Given the description of an element on the screen output the (x, y) to click on. 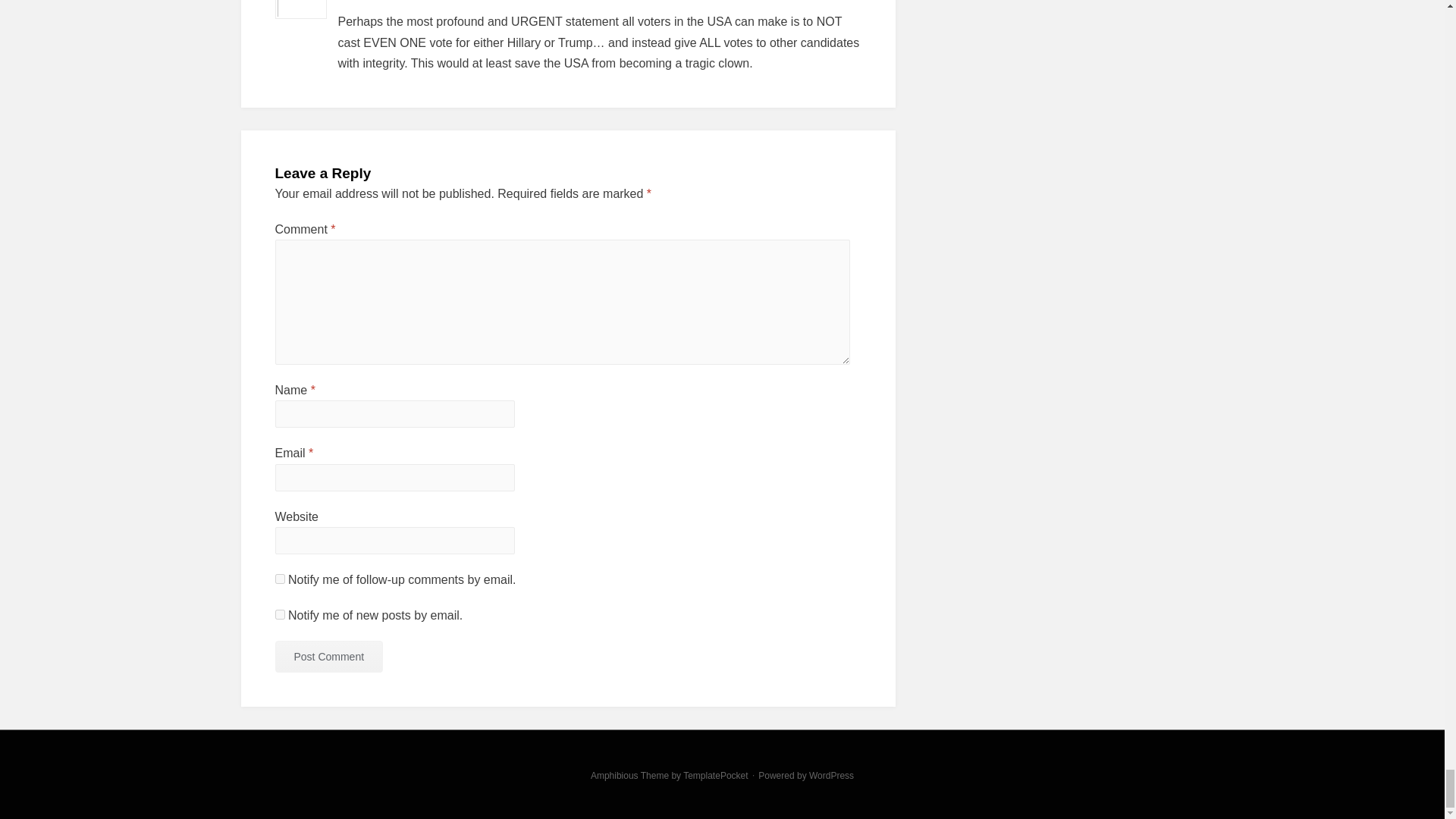
subscribe (279, 614)
subscribe (279, 578)
Post Comment (328, 656)
